Given the description of an element on the screen output the (x, y) to click on. 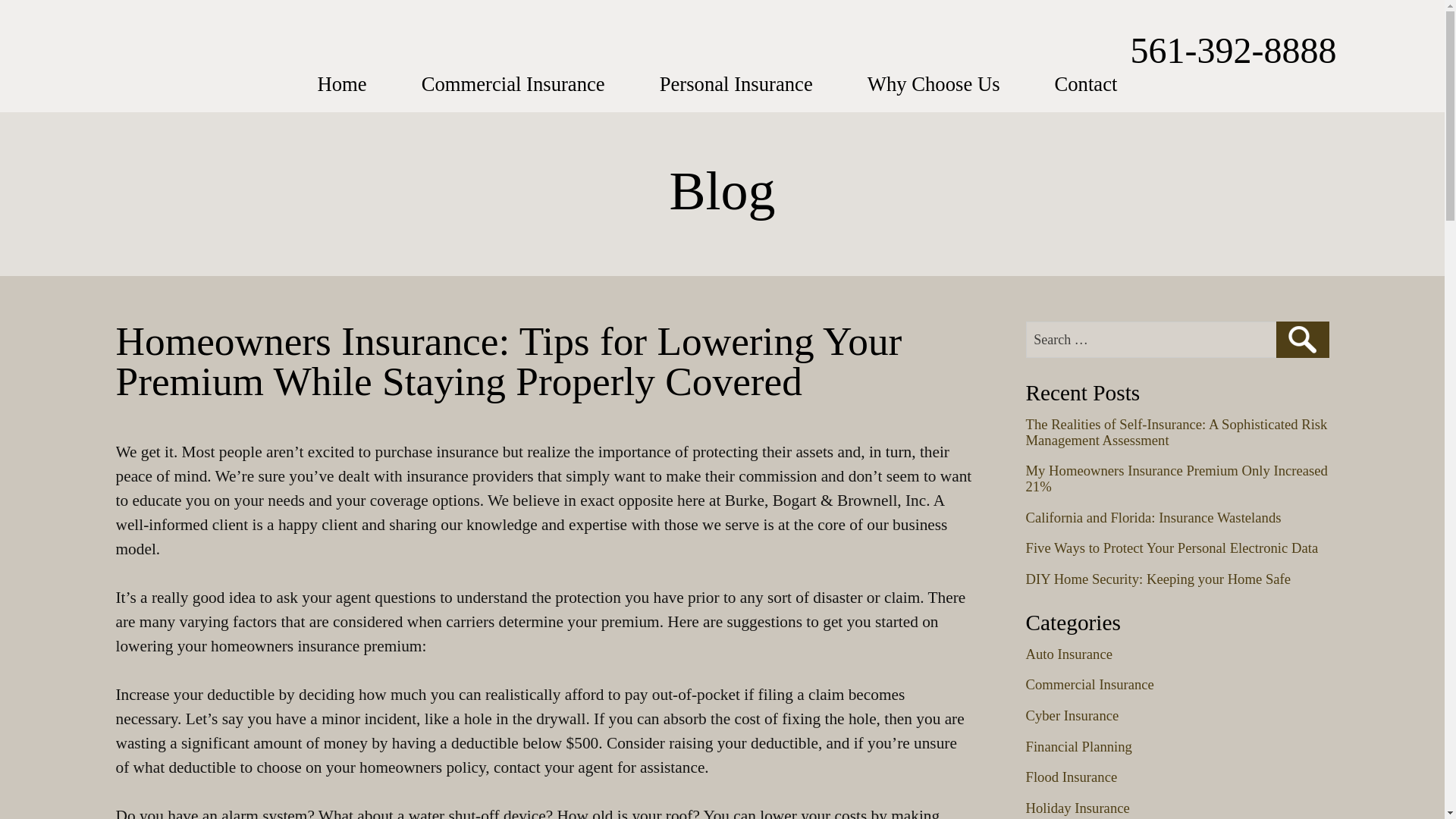
Holiday Insurance (1077, 807)
Contact (1085, 84)
Five Ways to Protect Your Personal Electronic Data (1171, 547)
561-392-8888 (1233, 50)
Commercial Insurance (1089, 684)
Auto Insurance (1068, 653)
California and Florida: Insurance Wastelands (1153, 517)
Cyber Insurance (1071, 715)
Financial Planning (1078, 746)
DIY Home Security: Keeping your Home Safe (1157, 578)
